Given the description of an element on the screen output the (x, y) to click on. 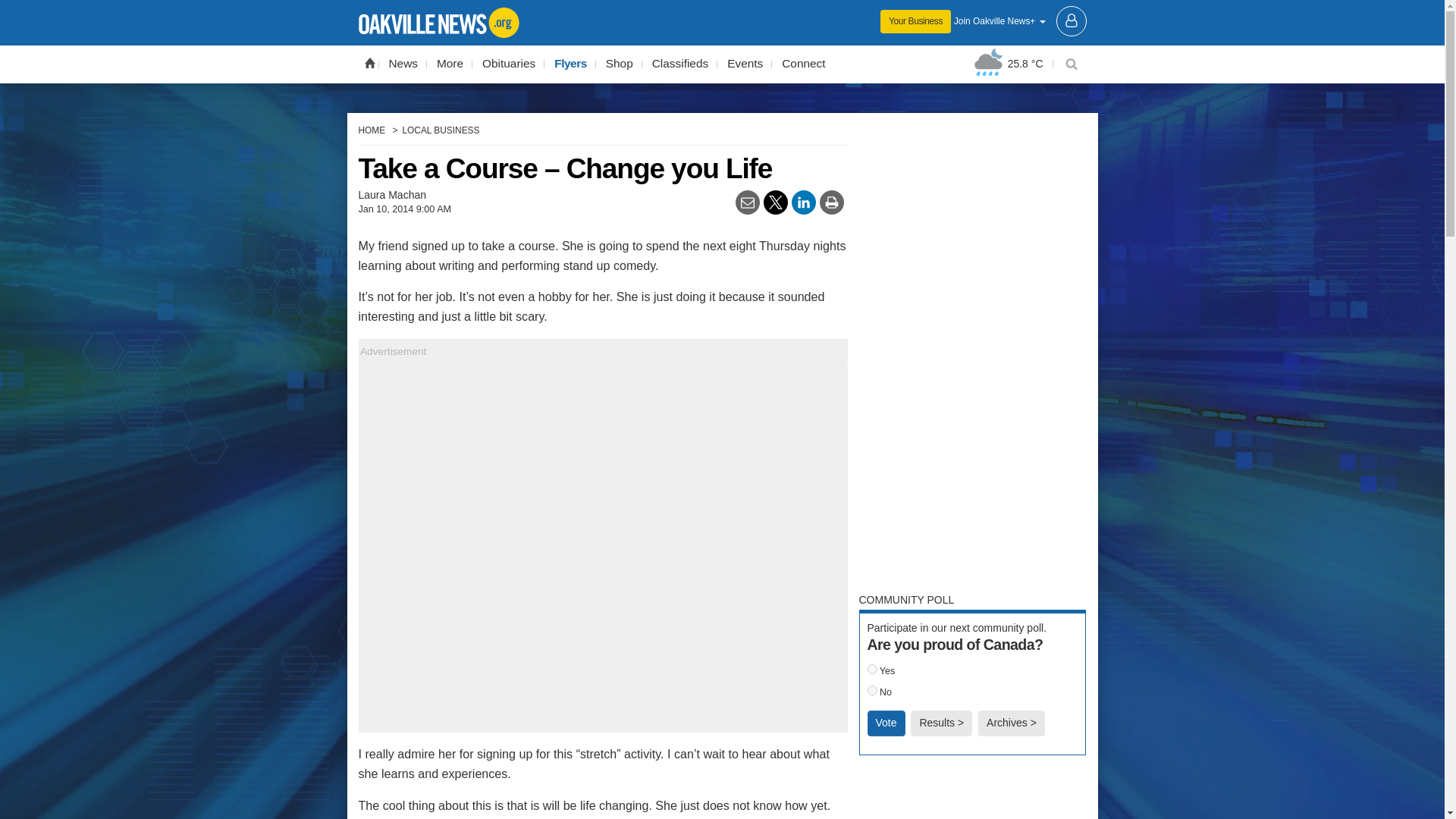
122182 (872, 669)
Home (368, 62)
3rd party ad content (972, 794)
News (403, 64)
Your Business (915, 21)
122183 (872, 690)
